Given the description of an element on the screen output the (x, y) to click on. 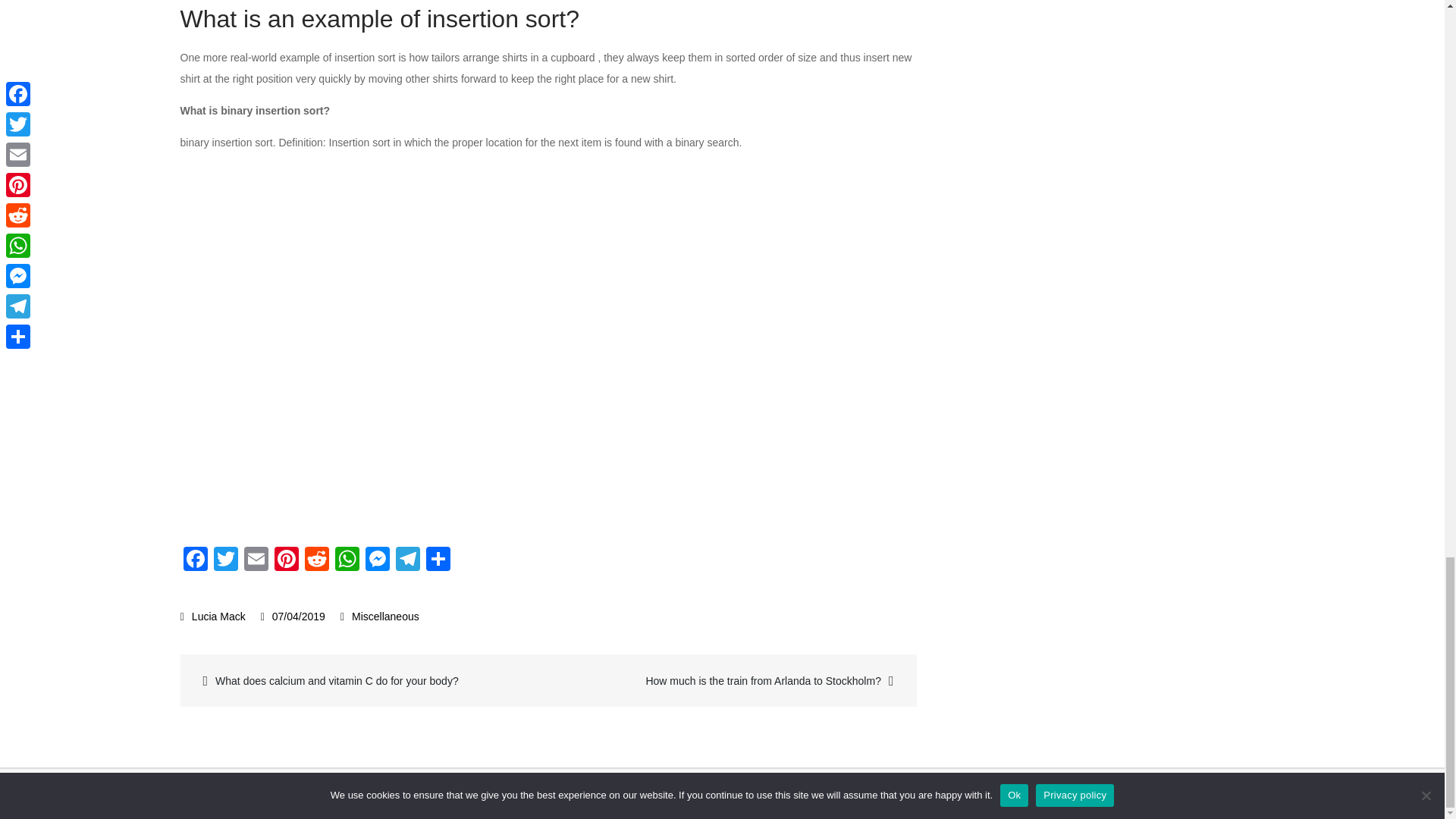
What does calcium and vitamin C do for your body? (366, 680)
Messenger (377, 560)
Reddit (316, 560)
How much is the train from Arlanda to Stockholm? (730, 680)
Facebook (195, 560)
Telegram (408, 560)
Email (255, 560)
Telegram (408, 560)
Miscellaneous (385, 616)
Lucia Mack (213, 616)
WhatsApp (346, 560)
Messenger (377, 560)
Pinterest (285, 560)
Share (437, 560)
